Given the description of an element on the screen output the (x, y) to click on. 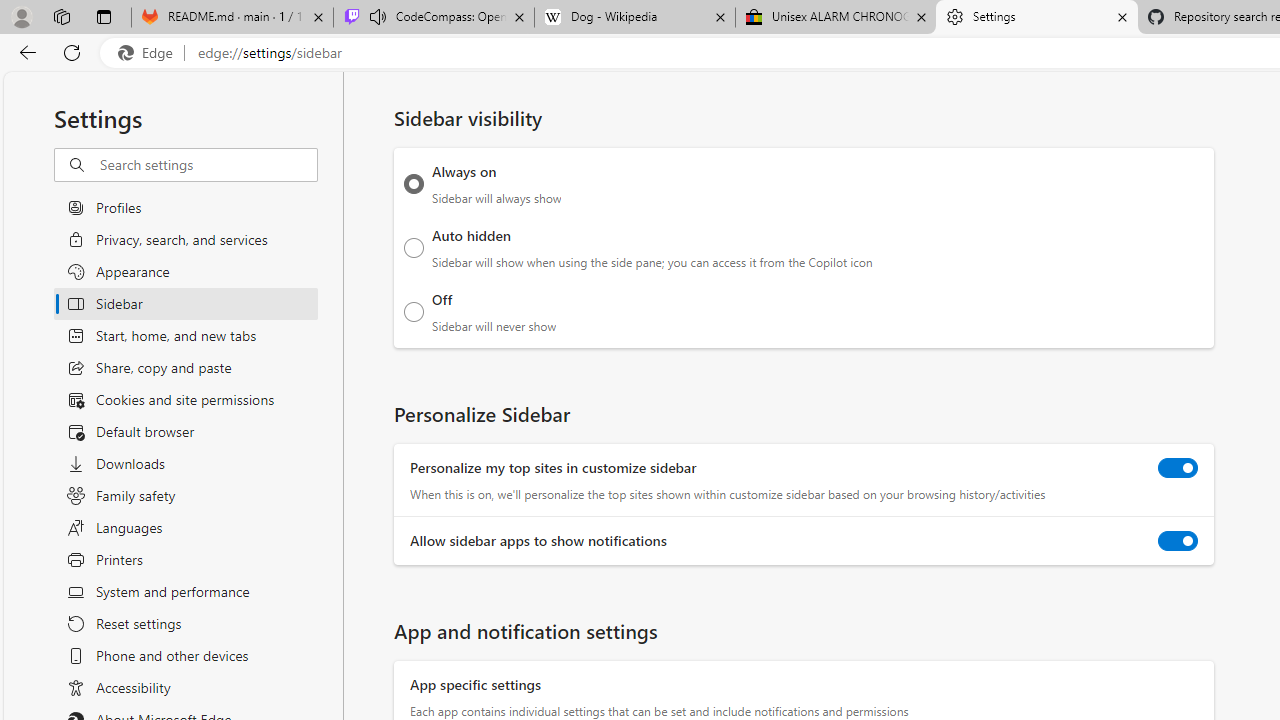
Off Sidebar will never show (413, 311)
